Given the description of an element on the screen output the (x, y) to click on. 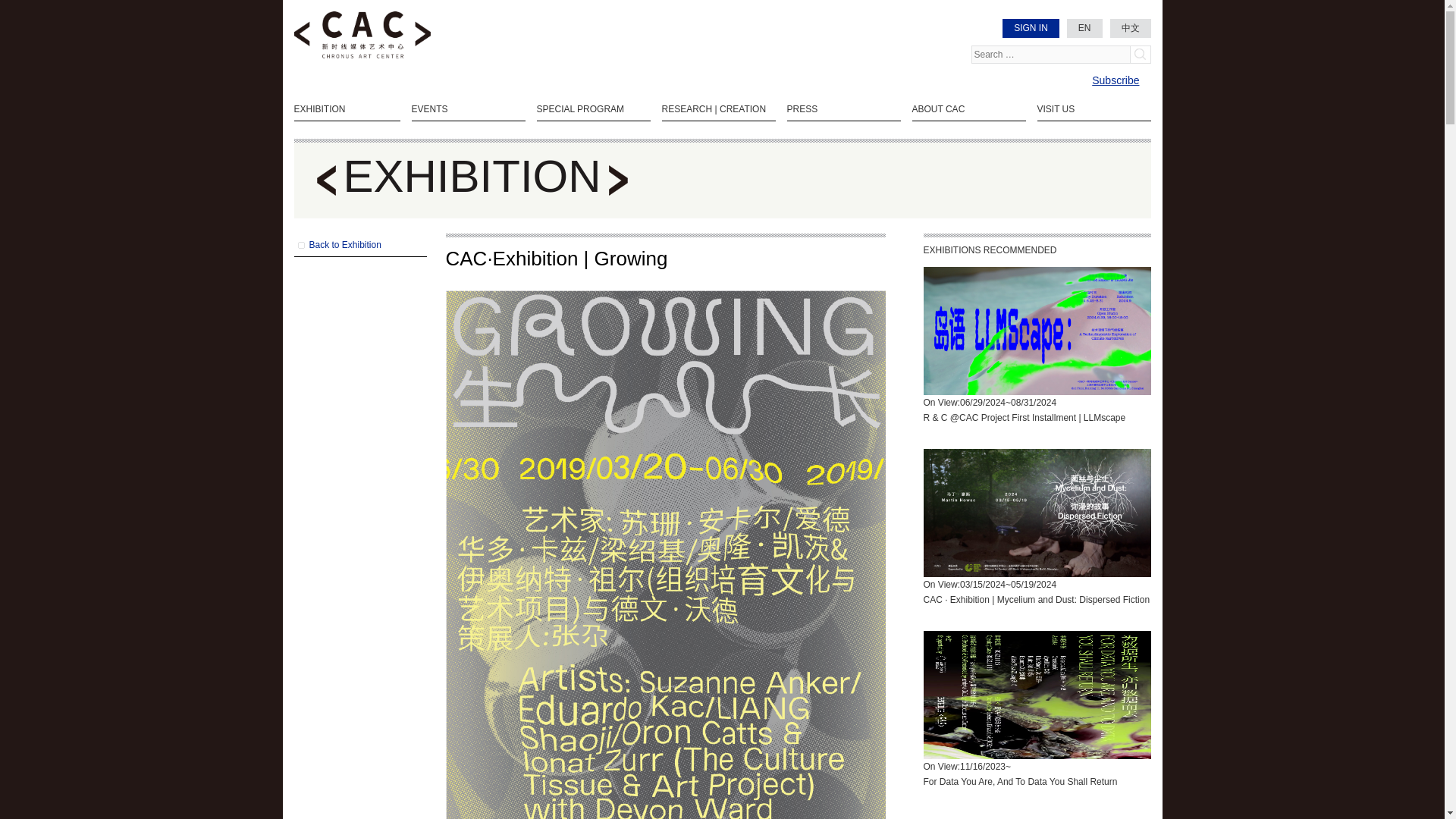
EN (1084, 27)
PRESS (844, 109)
Subscribe (1115, 80)
SPECIAL PROGRAM (593, 109)
Search (1139, 54)
EVENTS (467, 109)
Search (1139, 54)
EXHIBITION (347, 109)
SIGN IN (1031, 27)
VISIT US (1093, 109)
Search (1139, 54)
ABOUT CAC (968, 109)
Back to Exhibition (360, 244)
